Given the description of an element on the screen output the (x, y) to click on. 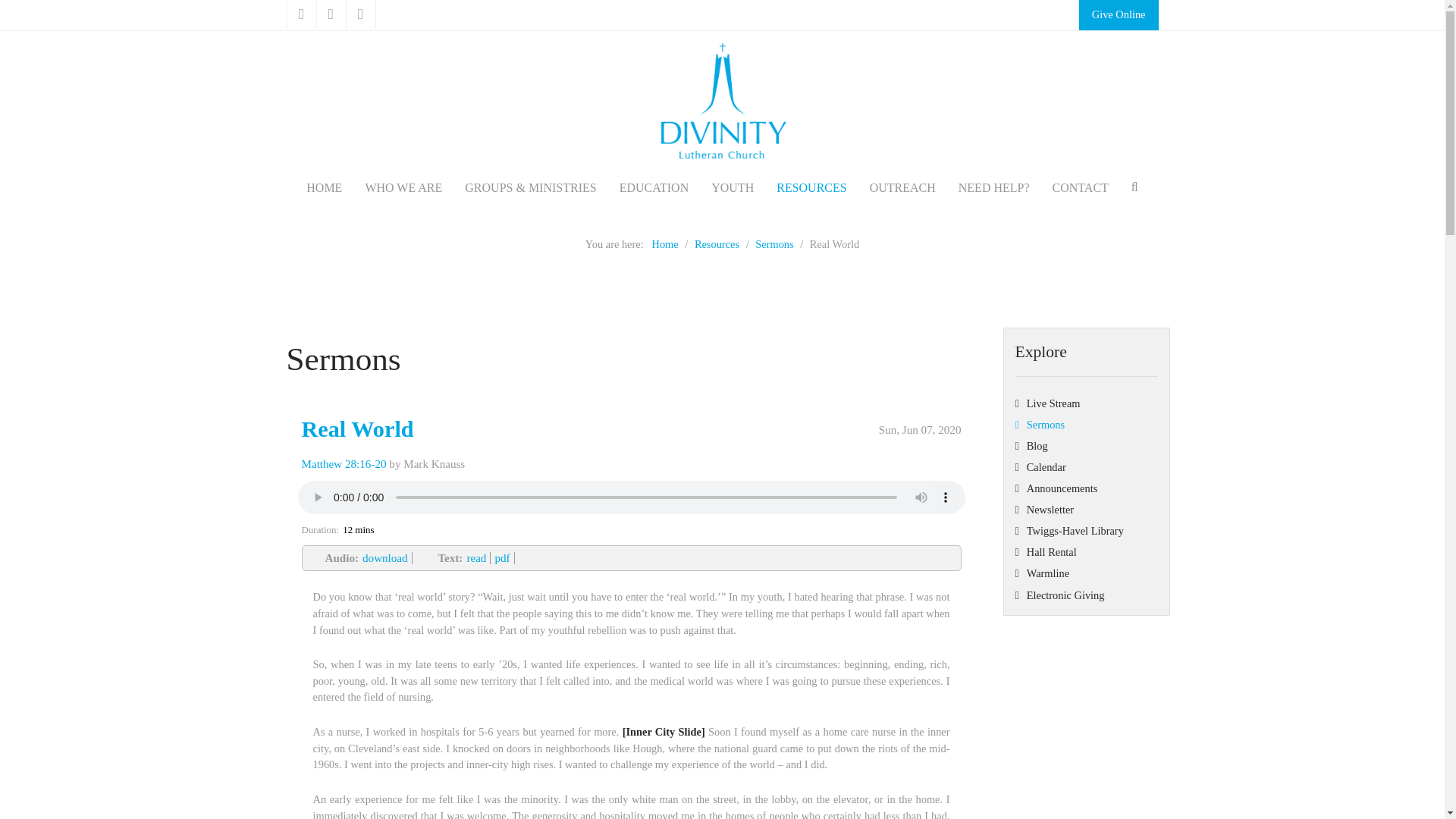
Youtube Channel (330, 14)
YOUTH (732, 187)
Divinity Lutheran Church (722, 102)
Instagram (360, 14)
Facebook Page (301, 14)
WHO WE ARE (403, 187)
Give (1118, 15)
HOME (323, 187)
EDUCATION (653, 187)
RESOURCES (810, 187)
